Given the description of an element on the screen output the (x, y) to click on. 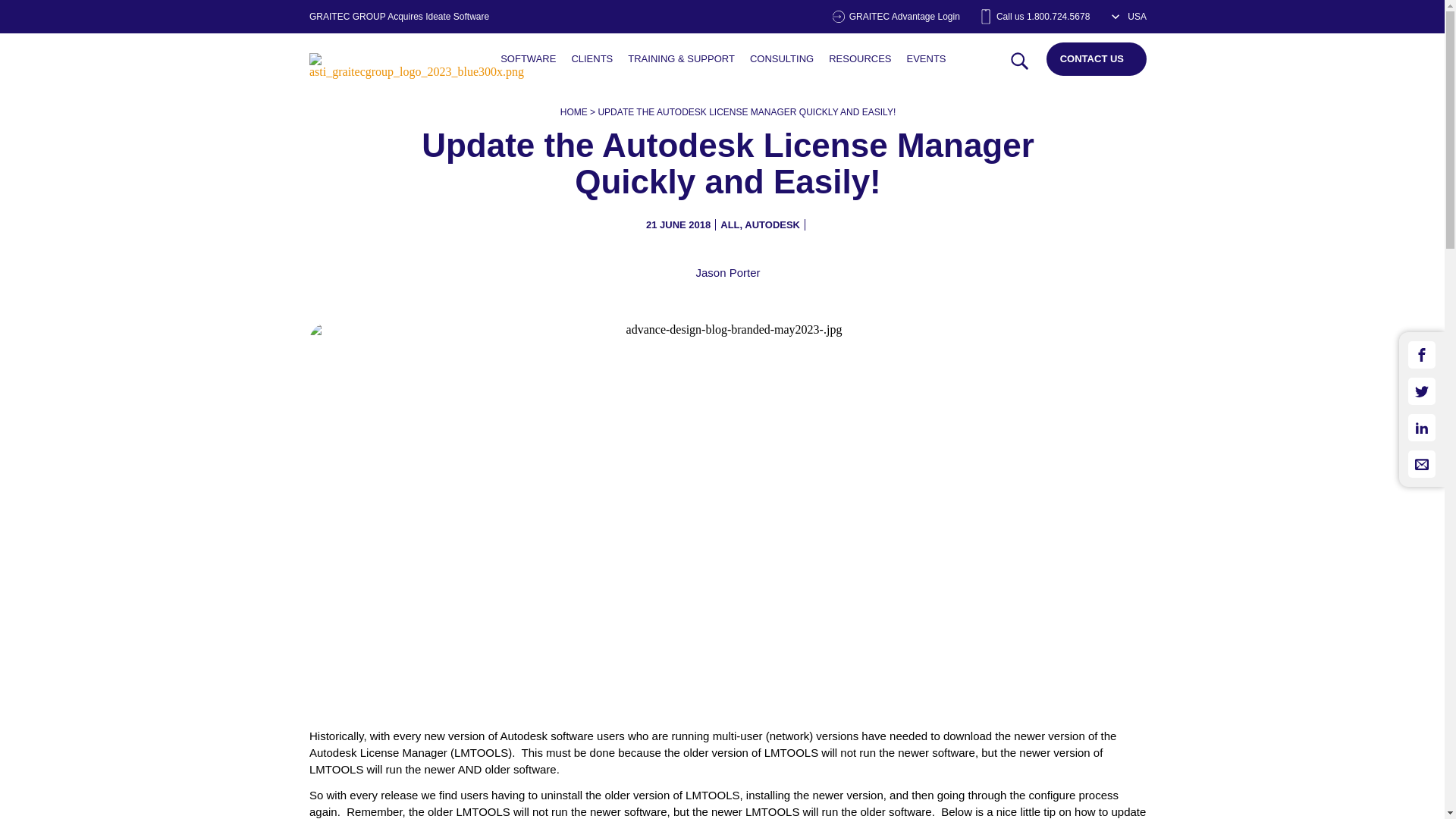
GRAITEC GROUP Acquires Ideate Software (398, 16)
SOFTWARE (528, 58)
Page d'accueil (416, 76)
Link post Object (528, 58)
